Given the description of an element on the screen output the (x, y) to click on. 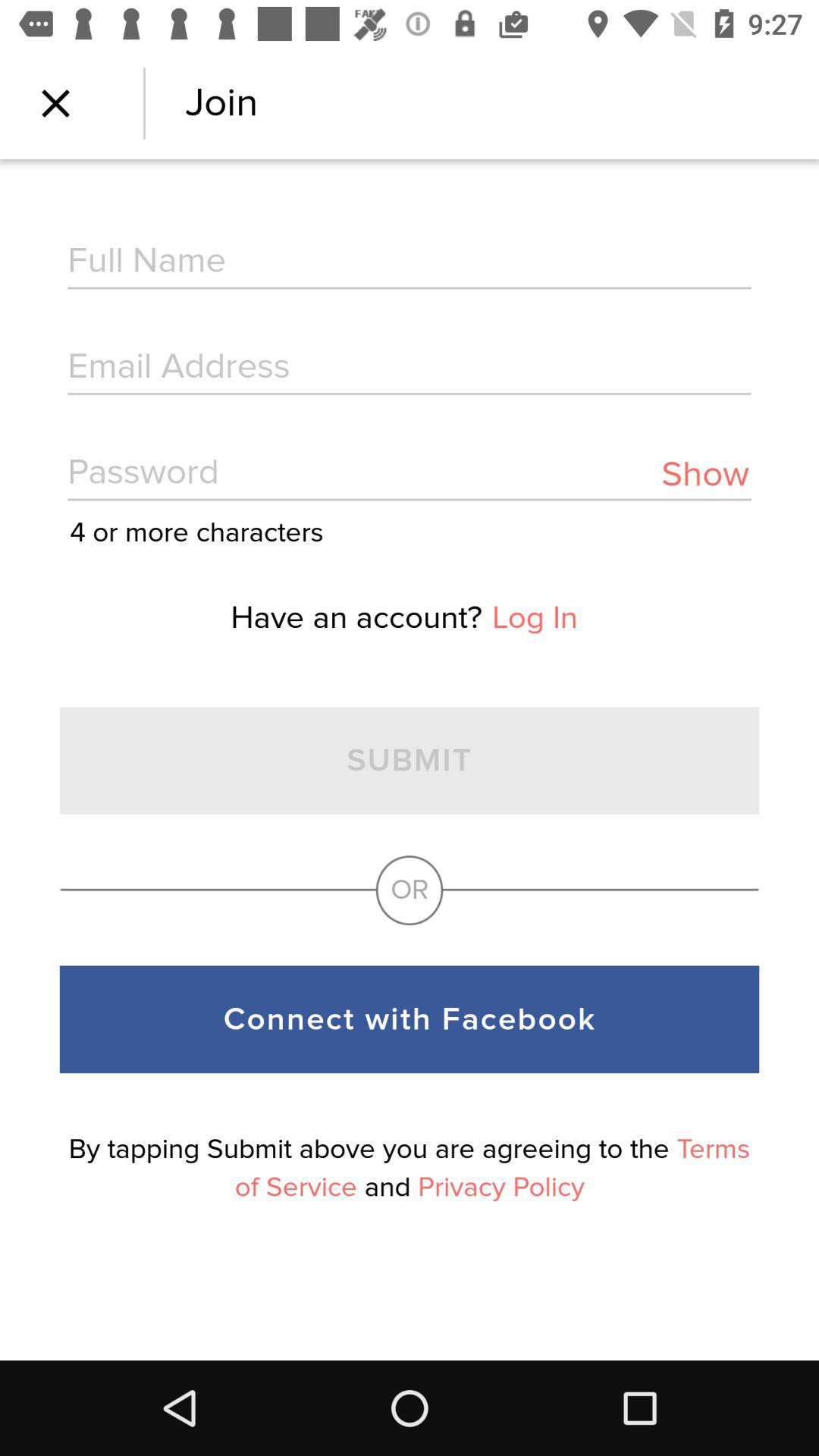
flip until by tapping submit (409, 1168)
